Given the description of an element on the screen output the (x, y) to click on. 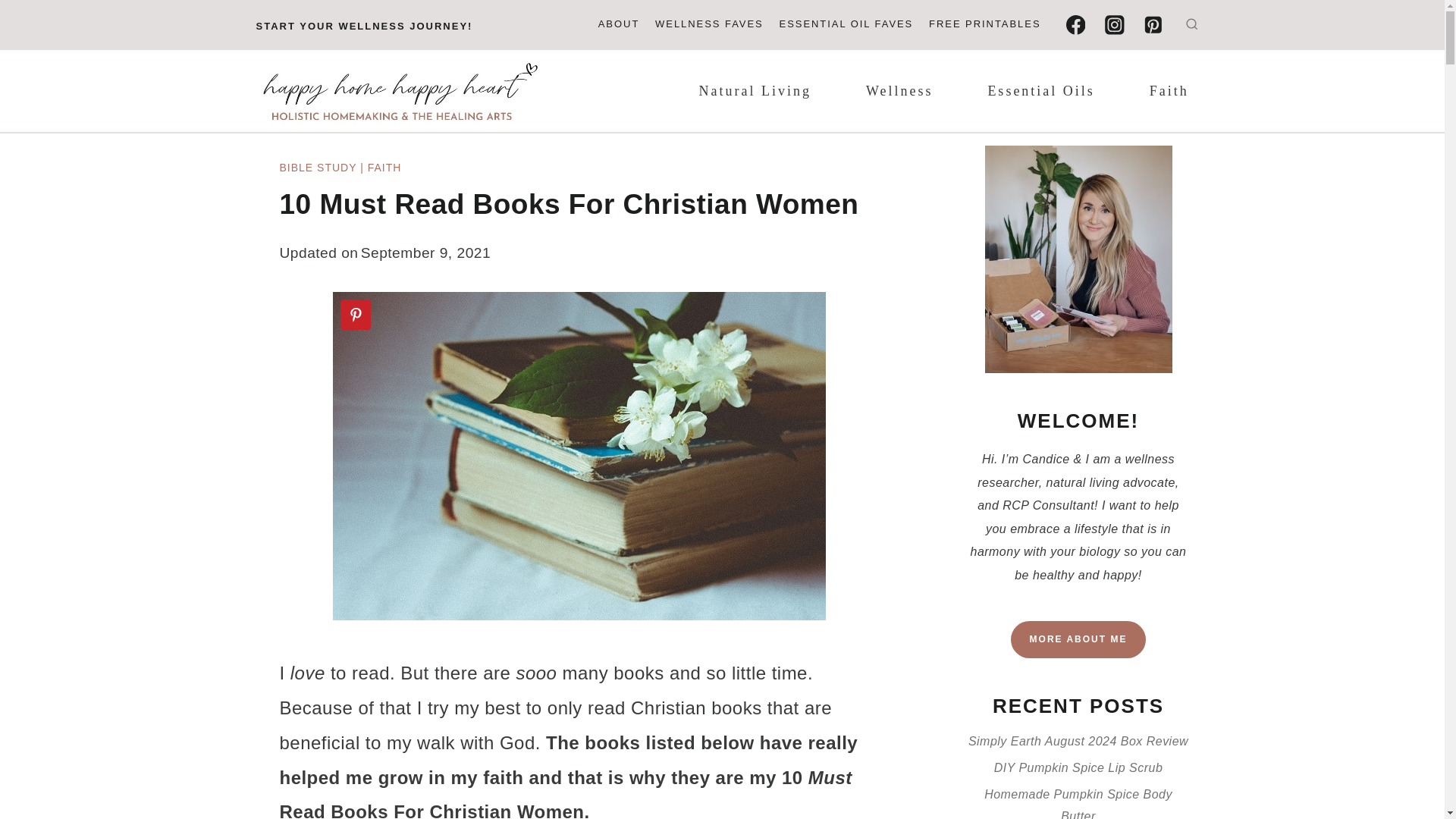
FAITH (384, 167)
ESSENTIAL OIL FAVES (846, 25)
Essential Oils (1041, 90)
ABOUT (617, 25)
BIBLE STUDY (317, 167)
FREE PRINTABLES (984, 25)
WELLNESS FAVES (709, 25)
Wellness (898, 90)
START YOUR WELLNESS JOURNEY! (363, 26)
Faith (1168, 90)
Natural Living (755, 90)
